Given the description of an element on the screen output the (x, y) to click on. 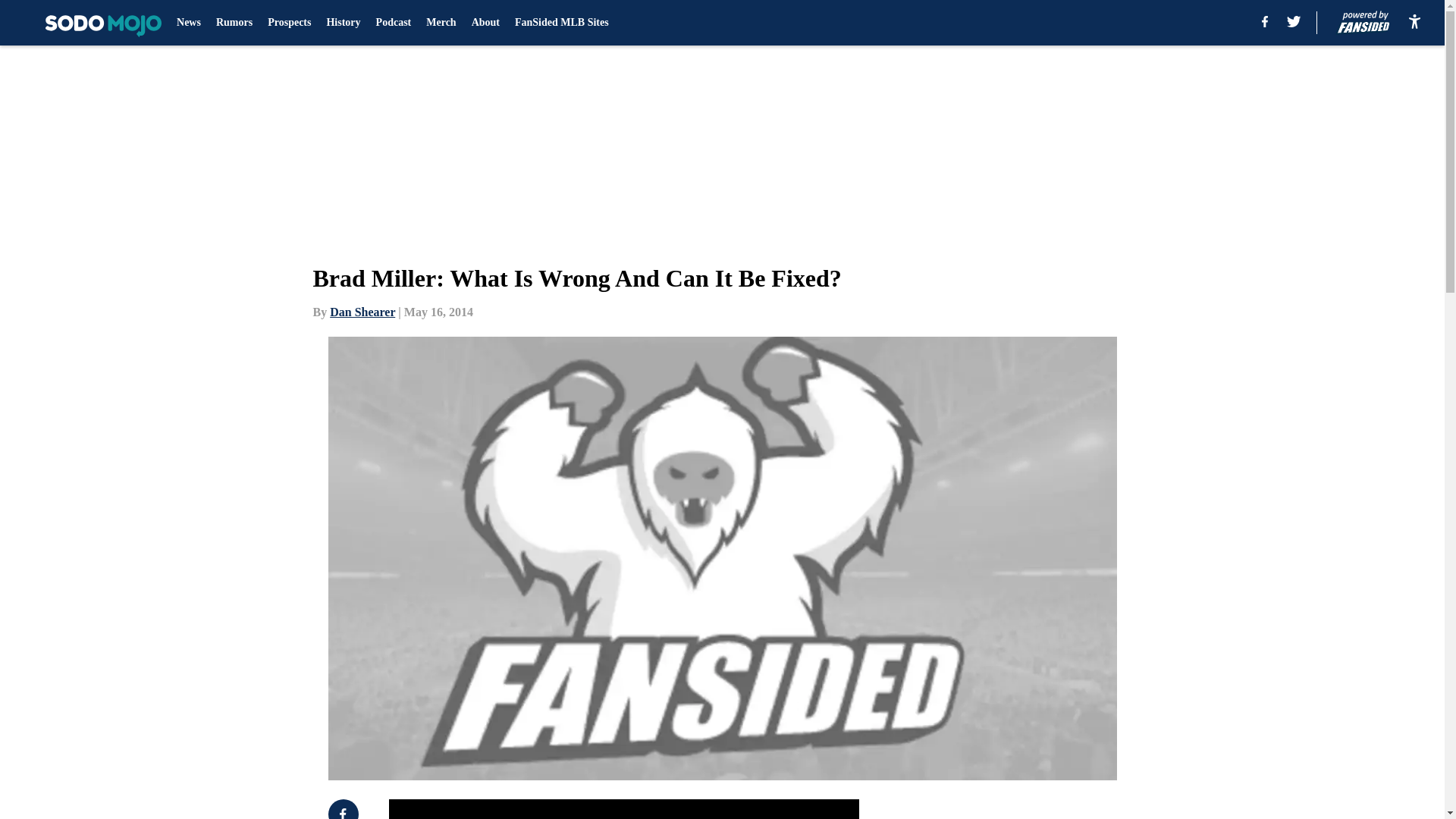
Prospects (289, 22)
About (485, 22)
Merch (440, 22)
History (342, 22)
Rumors (233, 22)
FanSided MLB Sites (561, 22)
Dan Shearer (362, 311)
Podcast (393, 22)
News (188, 22)
